Given the description of an element on the screen output the (x, y) to click on. 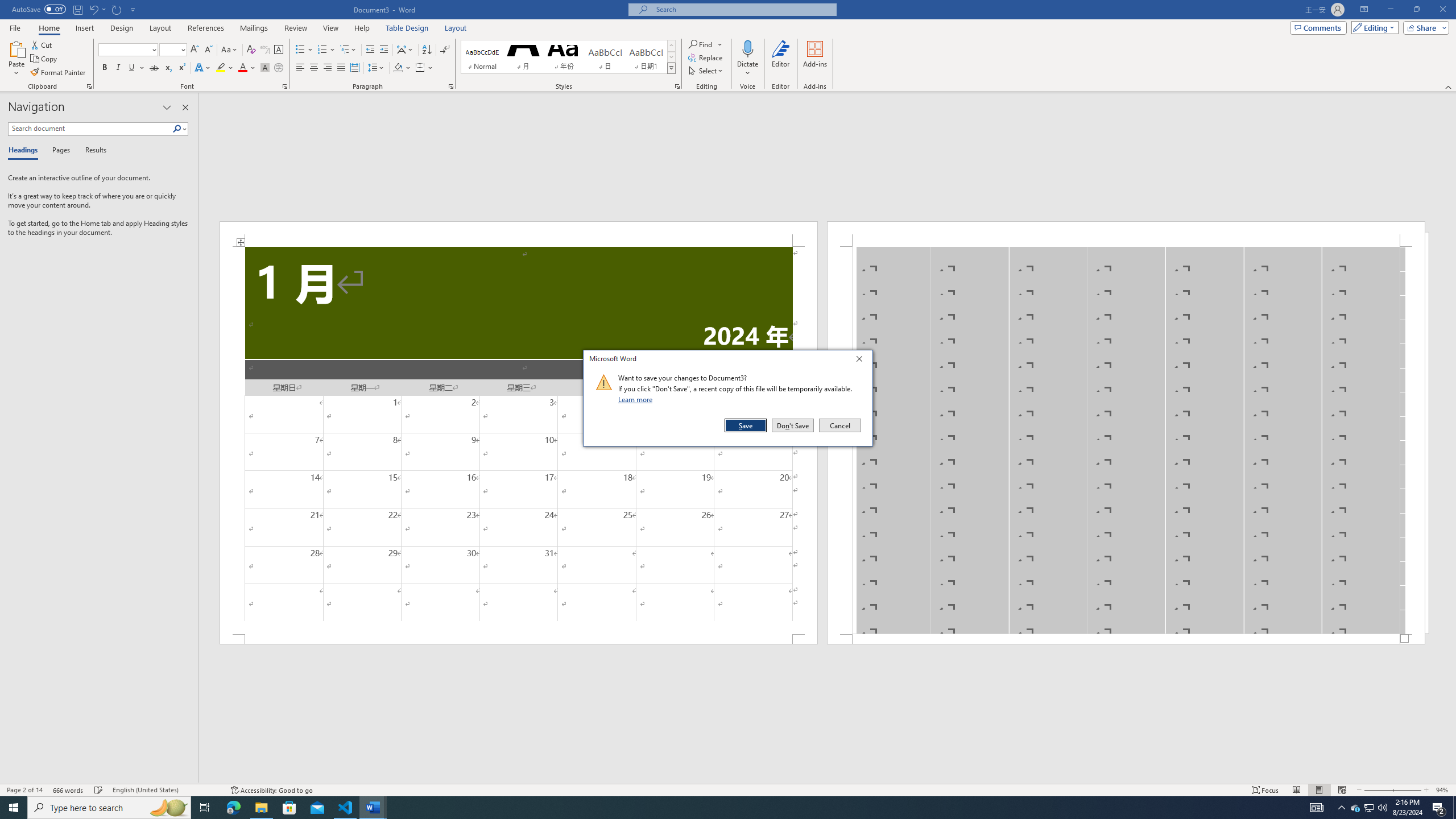
Underline (136, 67)
Comments (1318, 27)
Minimize (1390, 9)
Phonetic Guide... (264, 49)
Dictate (747, 48)
Italic (118, 67)
Font (124, 49)
Styles... (676, 85)
File Tab (15, 27)
Enclose Characters... (278, 67)
Shrink Font (208, 49)
Table Design (407, 28)
Print Layout (1318, 790)
Mode (1372, 27)
